Given the description of an element on the screen output the (x, y) to click on. 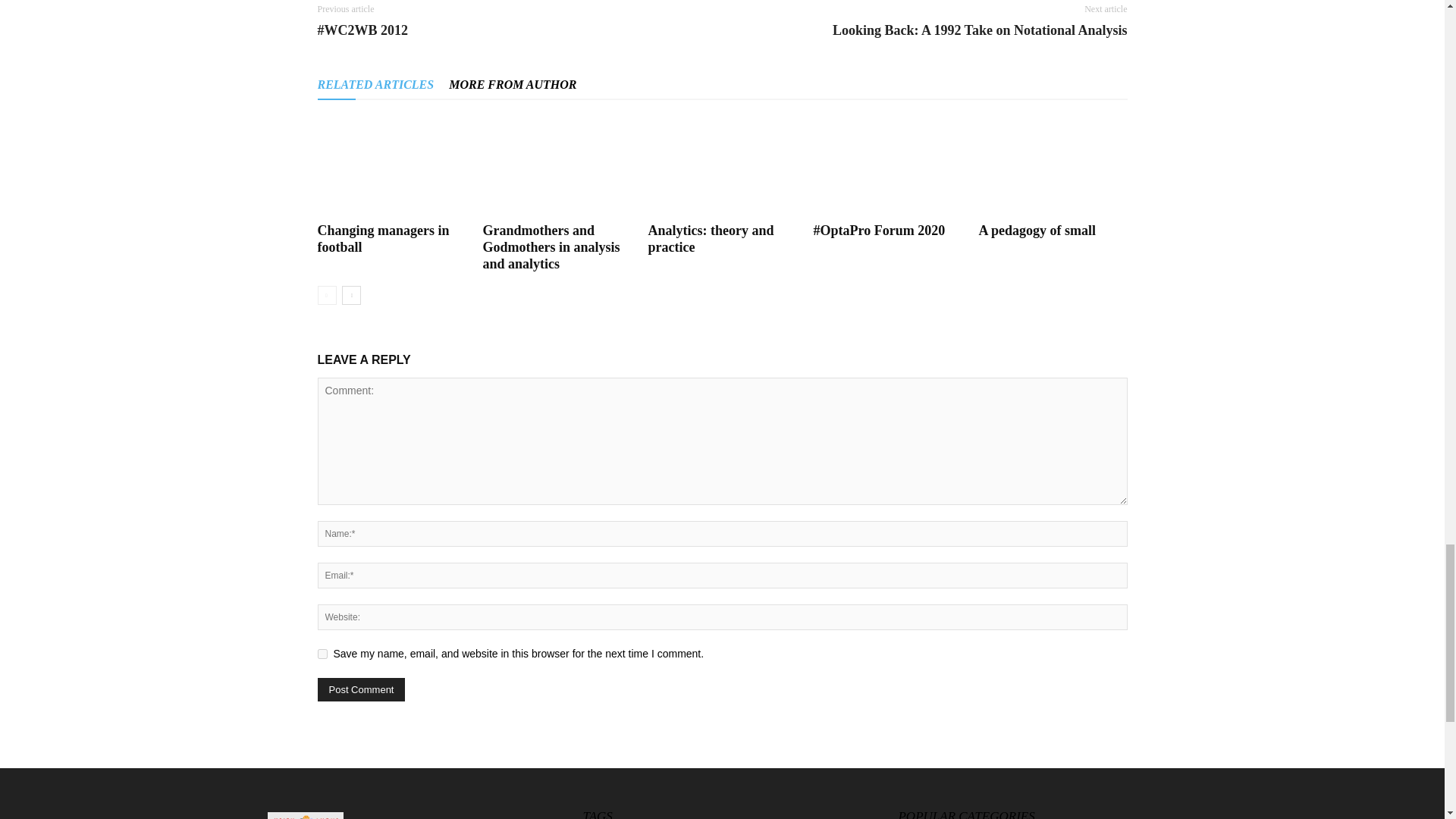
Post Comment (360, 689)
Grandmothers and Godmothers in analysis and analytics (555, 166)
Changing managers in football (382, 238)
Changing managers in football (391, 166)
yes (321, 654)
